Given the description of an element on the screen output the (x, y) to click on. 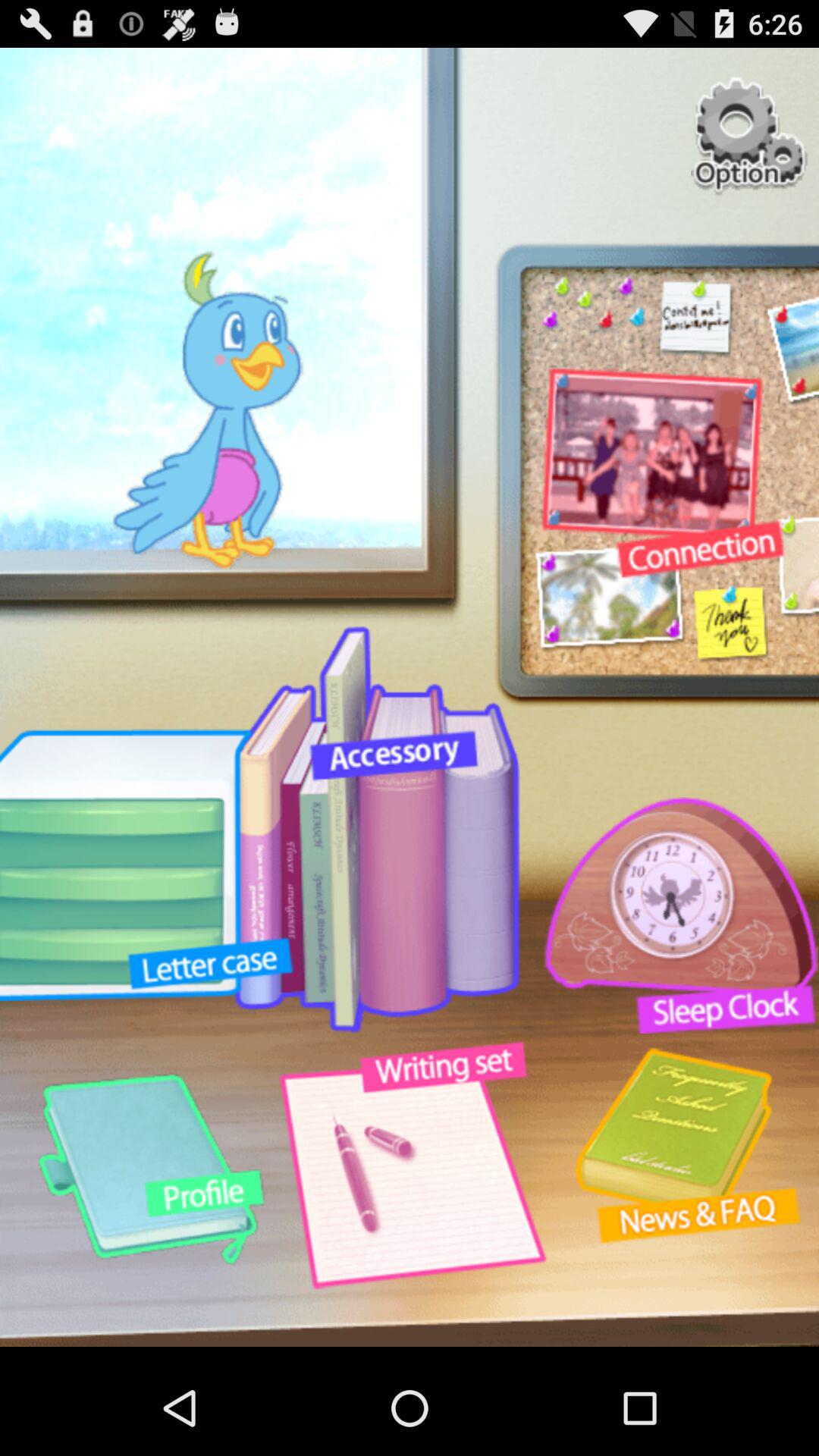
select the button below accessory (409, 1170)
go to letter case beside accessory (376, 828)
click on the button right to accessory (671, 915)
